Given the description of an element on the screen output the (x, y) to click on. 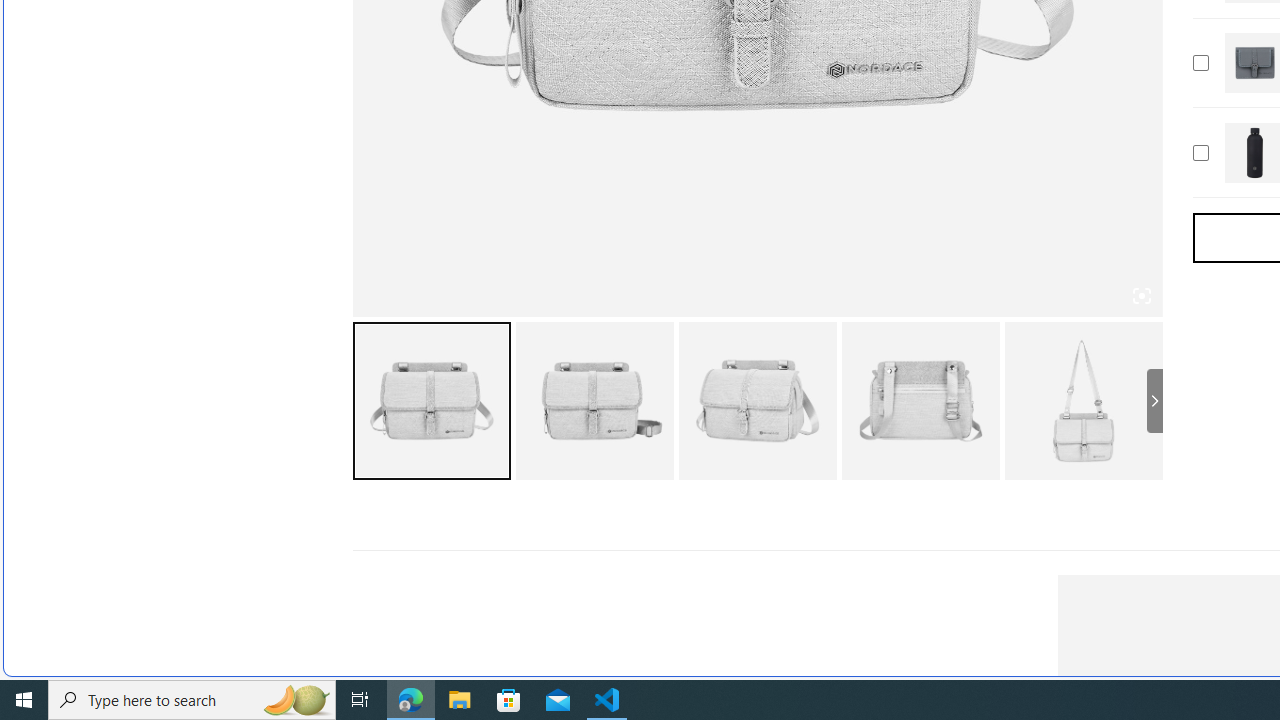
Class: iconic-woothumbs-fullscreen (1140, 296)
Add this product to cart (1200, 152)
